Given the description of an element on the screen output the (x, y) to click on. 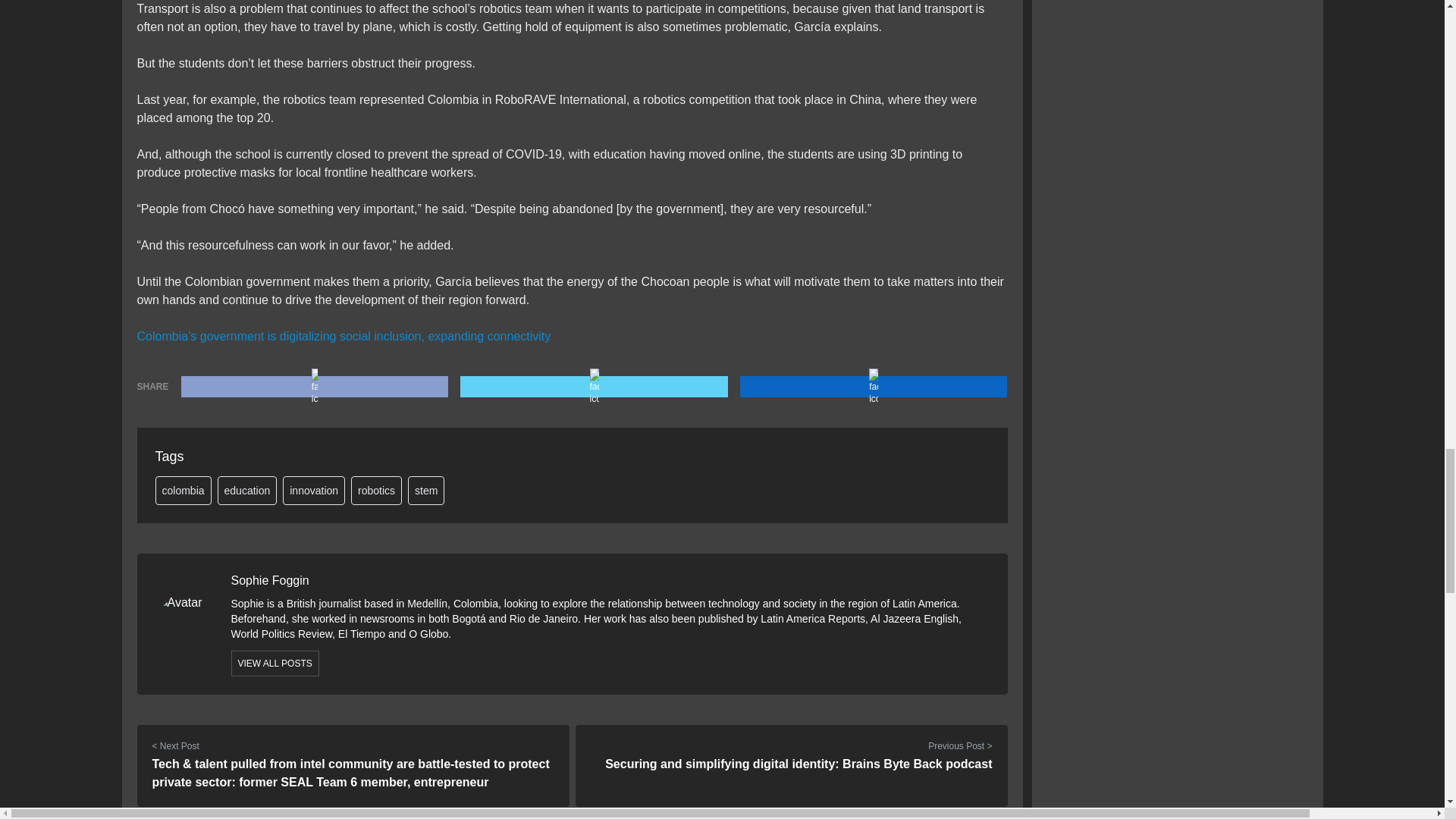
education (247, 490)
robotics (375, 490)
stem (425, 490)
colombia (182, 490)
innovation (313, 490)
